Given the description of an element on the screen output the (x, y) to click on. 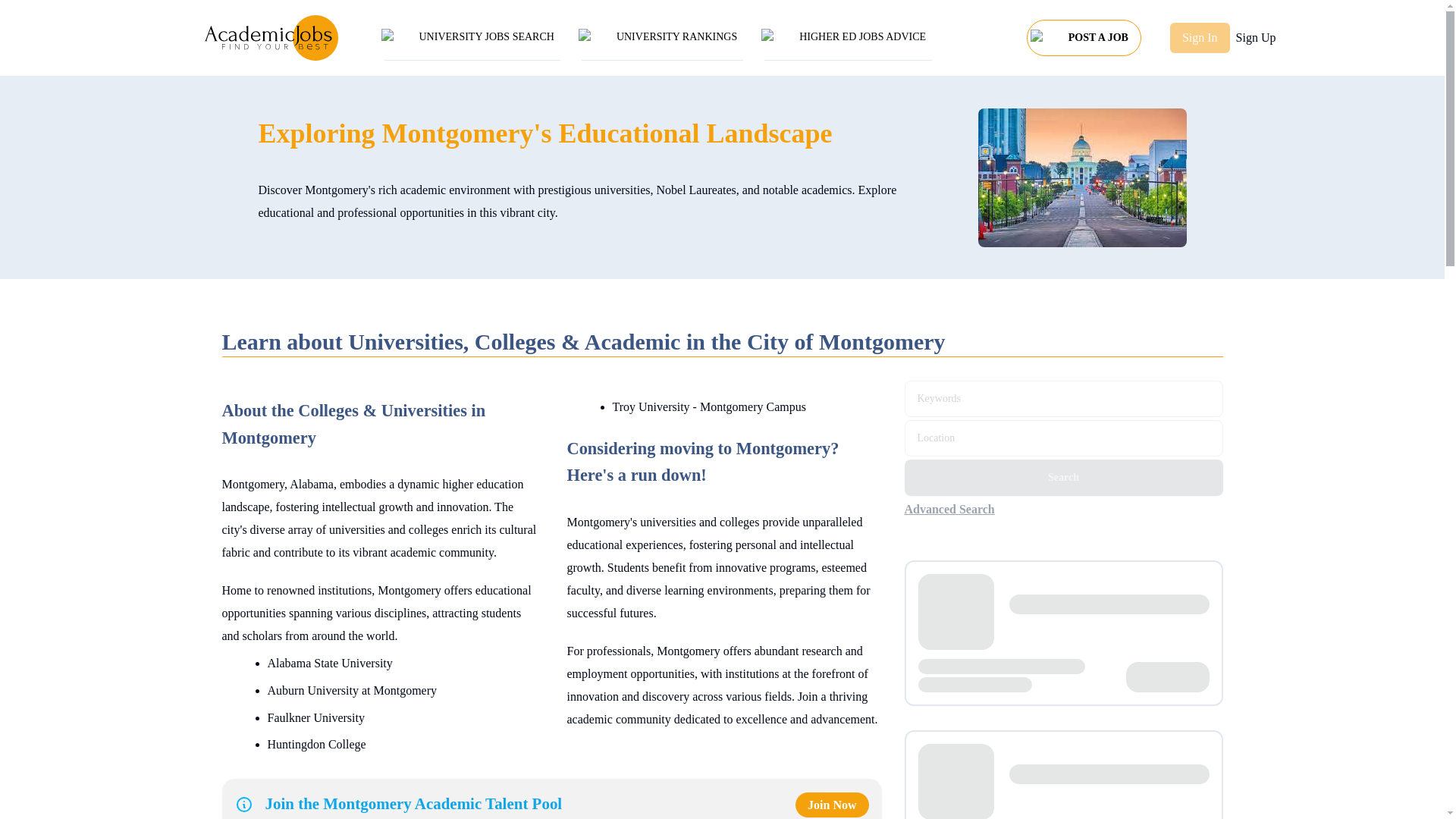
HIGHER ED JOBS ADVICE (848, 37)
Search (1063, 477)
POST A JOB (1083, 33)
Sign In (1200, 37)
UNIVERSITY JOBS SEARCH (471, 37)
Advanced Search (957, 509)
UNIVERSITY RANKINGS (662, 37)
Sign Up (1256, 37)
Join Now (830, 804)
